Given the description of an element on the screen output the (x, y) to click on. 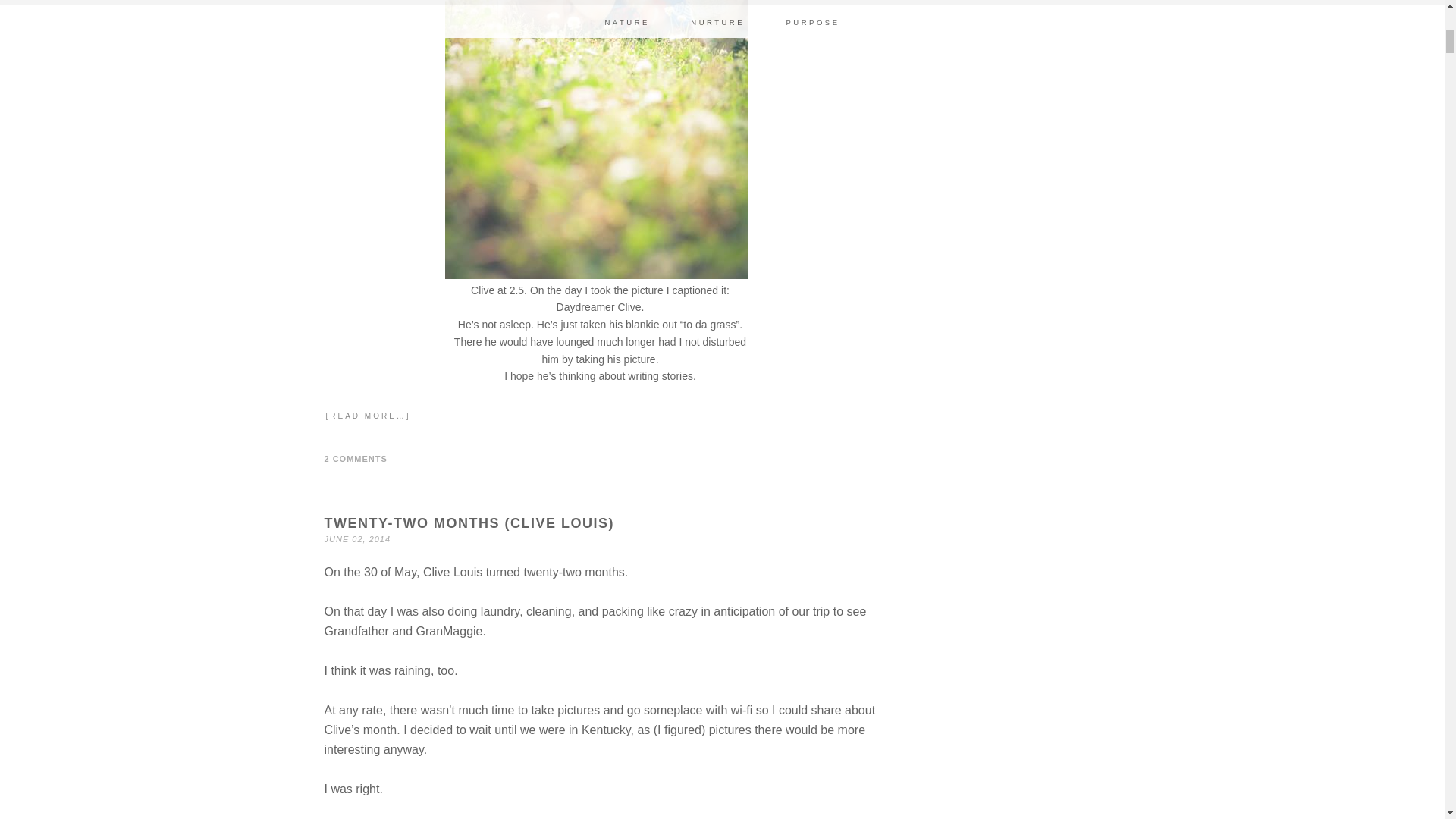
2 COMMENTS (355, 458)
